Given the description of an element on the screen output the (x, y) to click on. 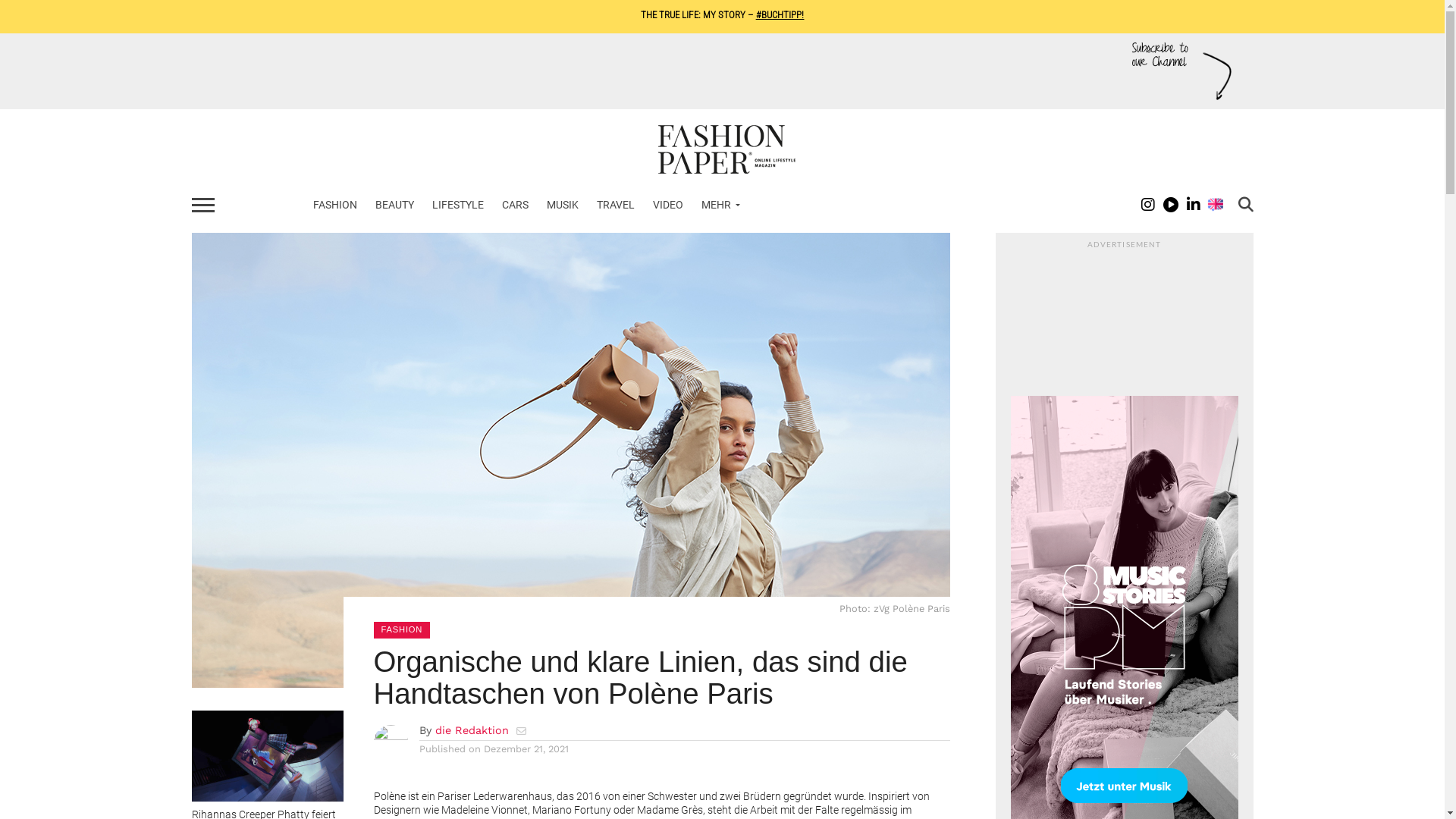
CARS Element type: text (514, 205)
#BUCHTIPP! Element type: text (780, 14)
die Redaktion Element type: text (471, 730)
VIDEO Element type: text (667, 205)
LIFESTYLE Element type: text (457, 205)
TRAVEL Element type: text (614, 205)
MUSIK Element type: text (561, 205)
MEHR Element type: text (717, 205)
BEAUTY Element type: text (393, 205)
vimeo-player Element type: hover (1123, 327)
FASHION Element type: text (334, 205)
